Given the description of an element on the screen output the (x, y) to click on. 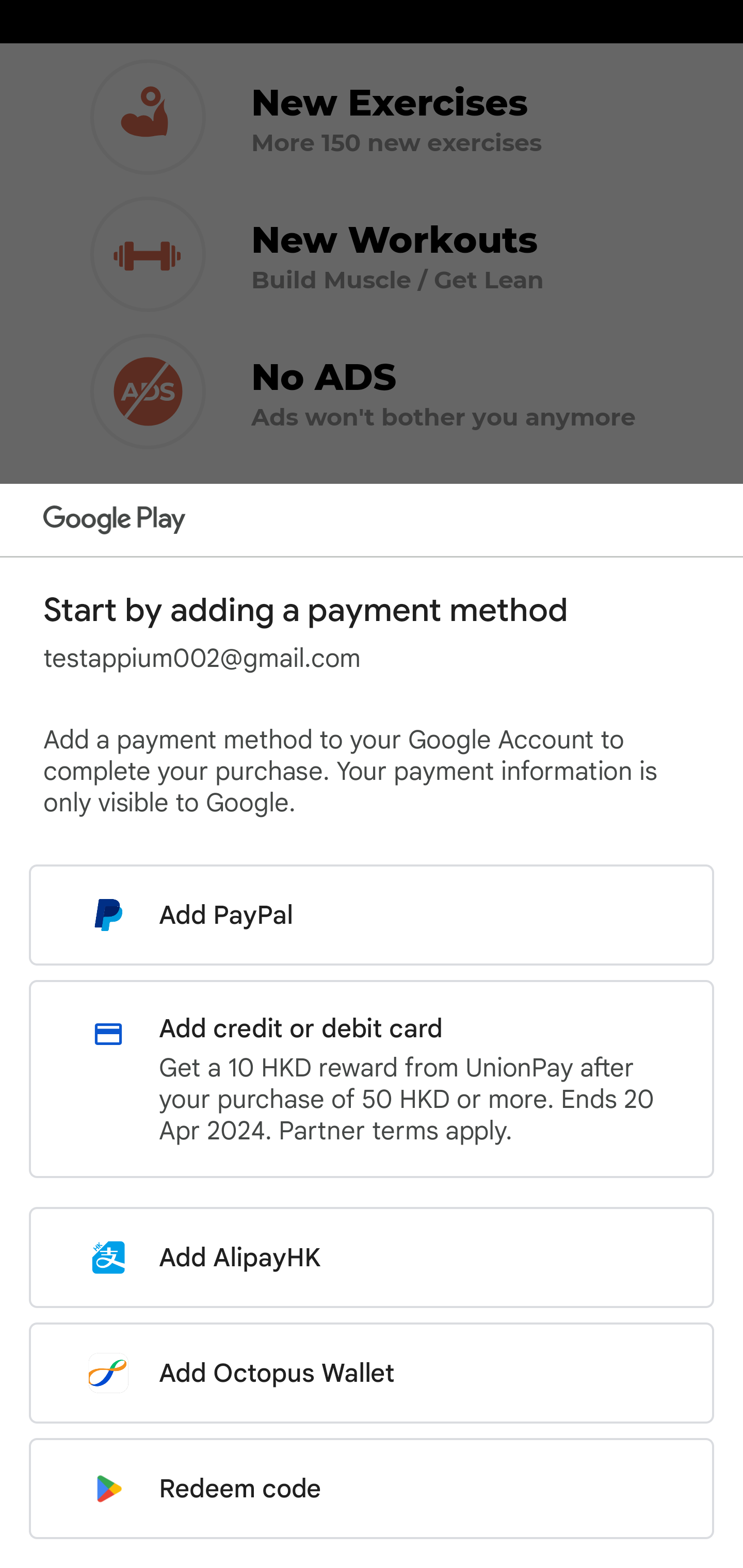
Add PayPal (371, 914)
Add AlipayHK (371, 1257)
Add Octopus Wallet (371, 1372)
Redeem code (371, 1488)
